Given the description of an element on the screen output the (x, y) to click on. 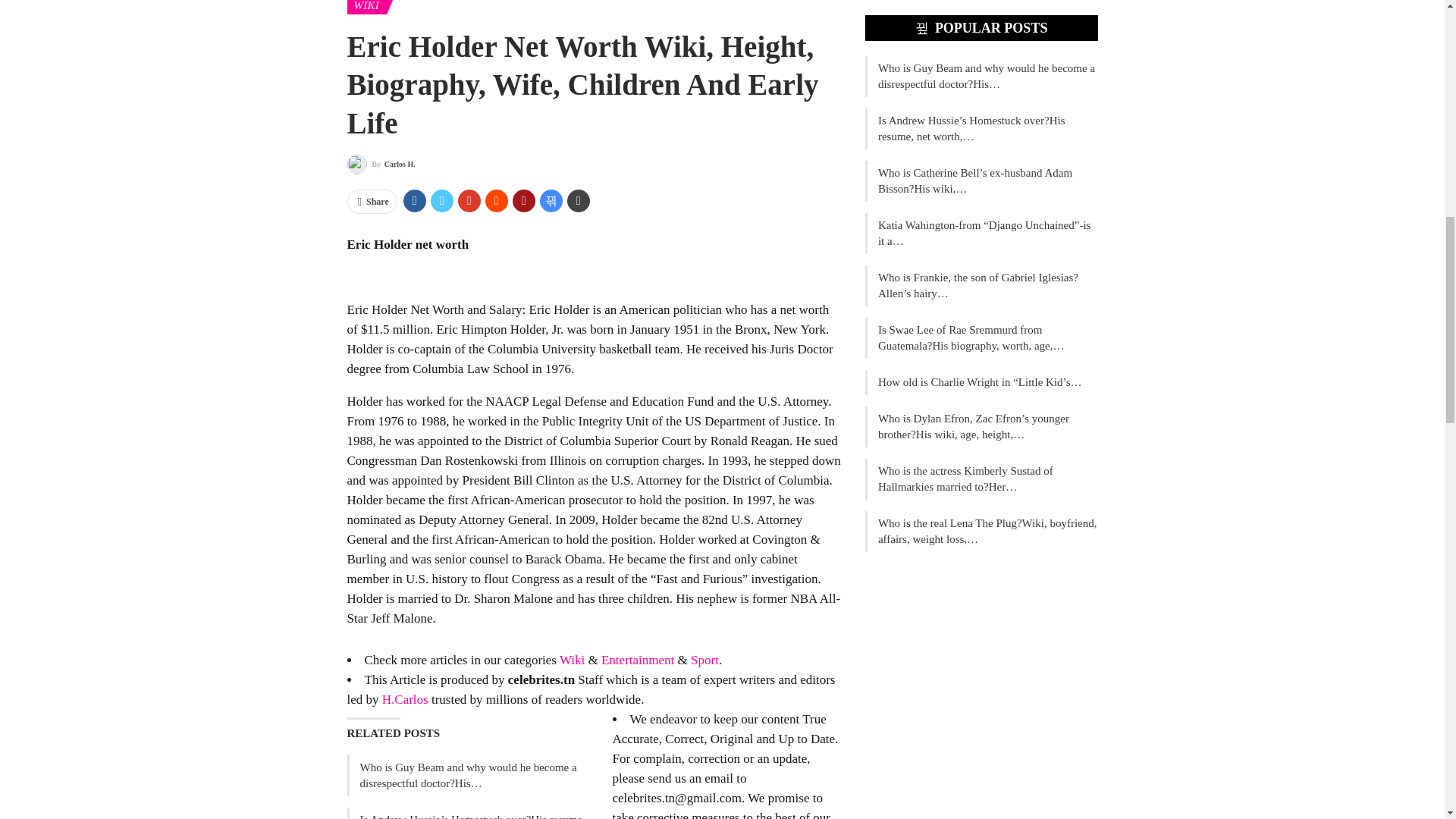
Browse Author Articles (380, 164)
By Carlos H. (380, 164)
WIKI (366, 7)
